Given the description of an element on the screen output the (x, y) to click on. 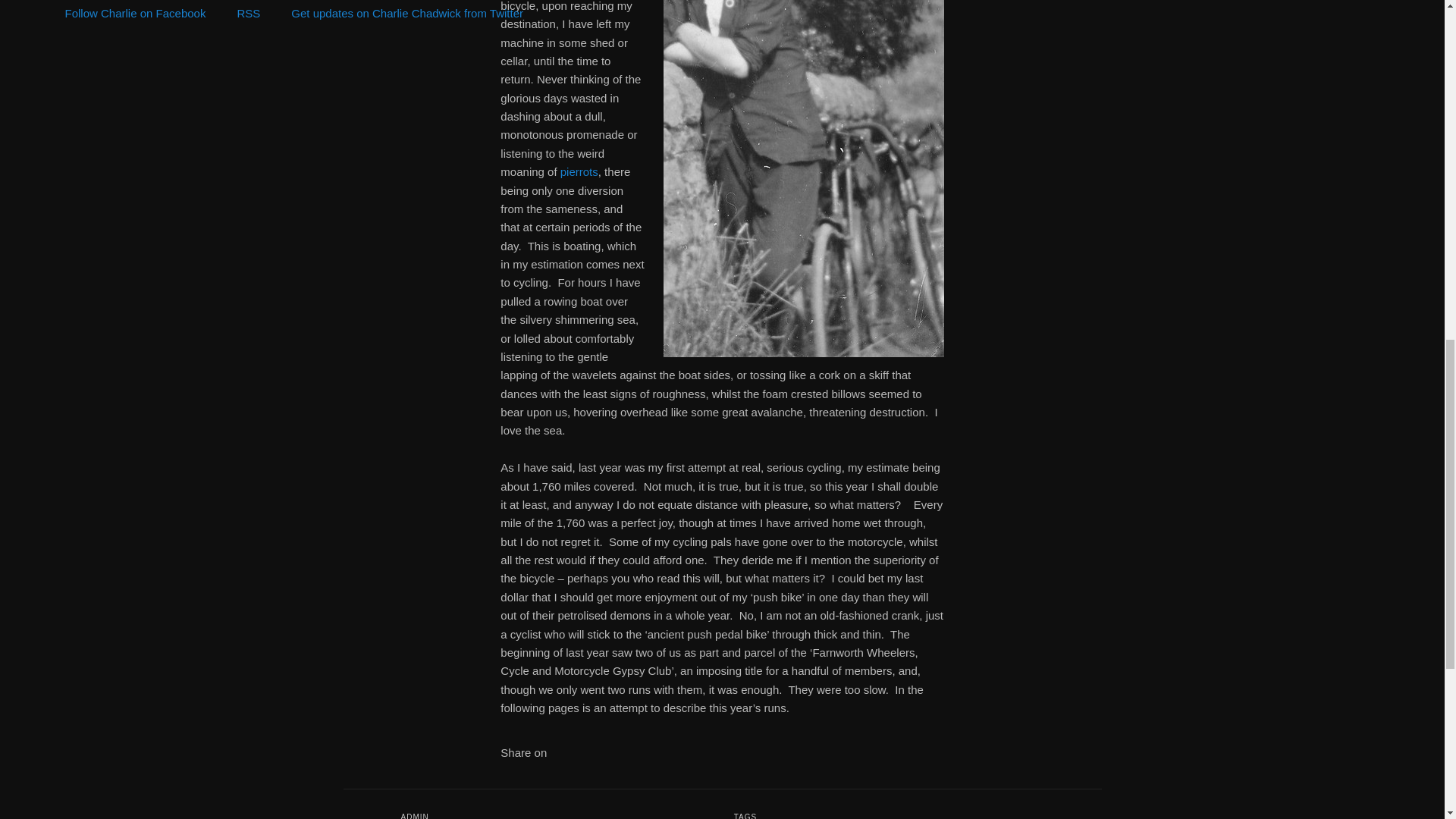
Follow this post : Sunday, January 1 comments (598, 757)
Tell a friend about this post : Sunday, January 1  (619, 757)
Share this post : Sunday, January 1 on Facebook (557, 757)
Tweet this post : Sunday, January 1 on Twitter (578, 757)
